Given the description of an element on the screen output the (x, y) to click on. 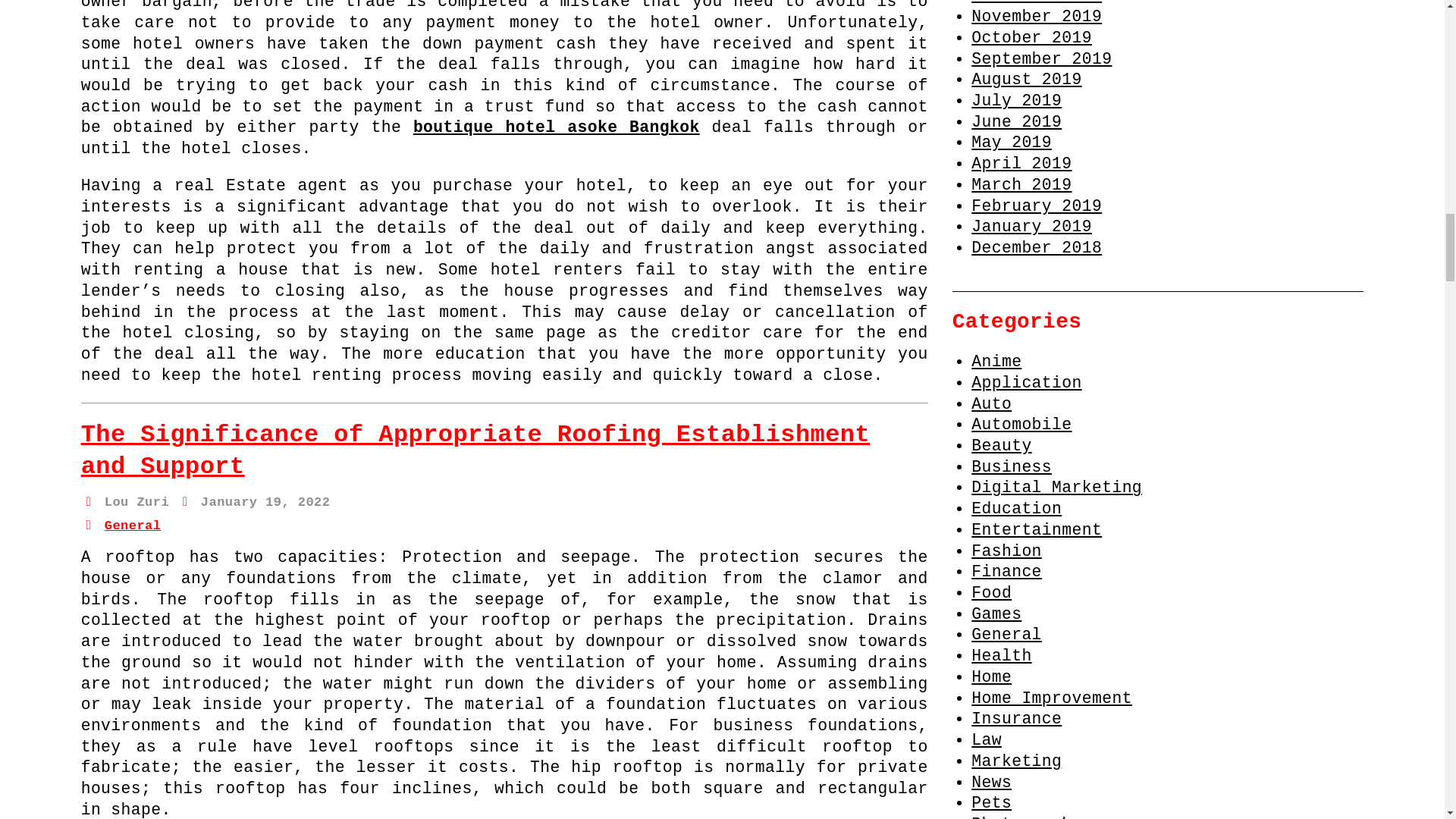
View all in General (132, 525)
boutique hotel asoke Bangkok (556, 126)
General (132, 525)
